Given the description of an element on the screen output the (x, y) to click on. 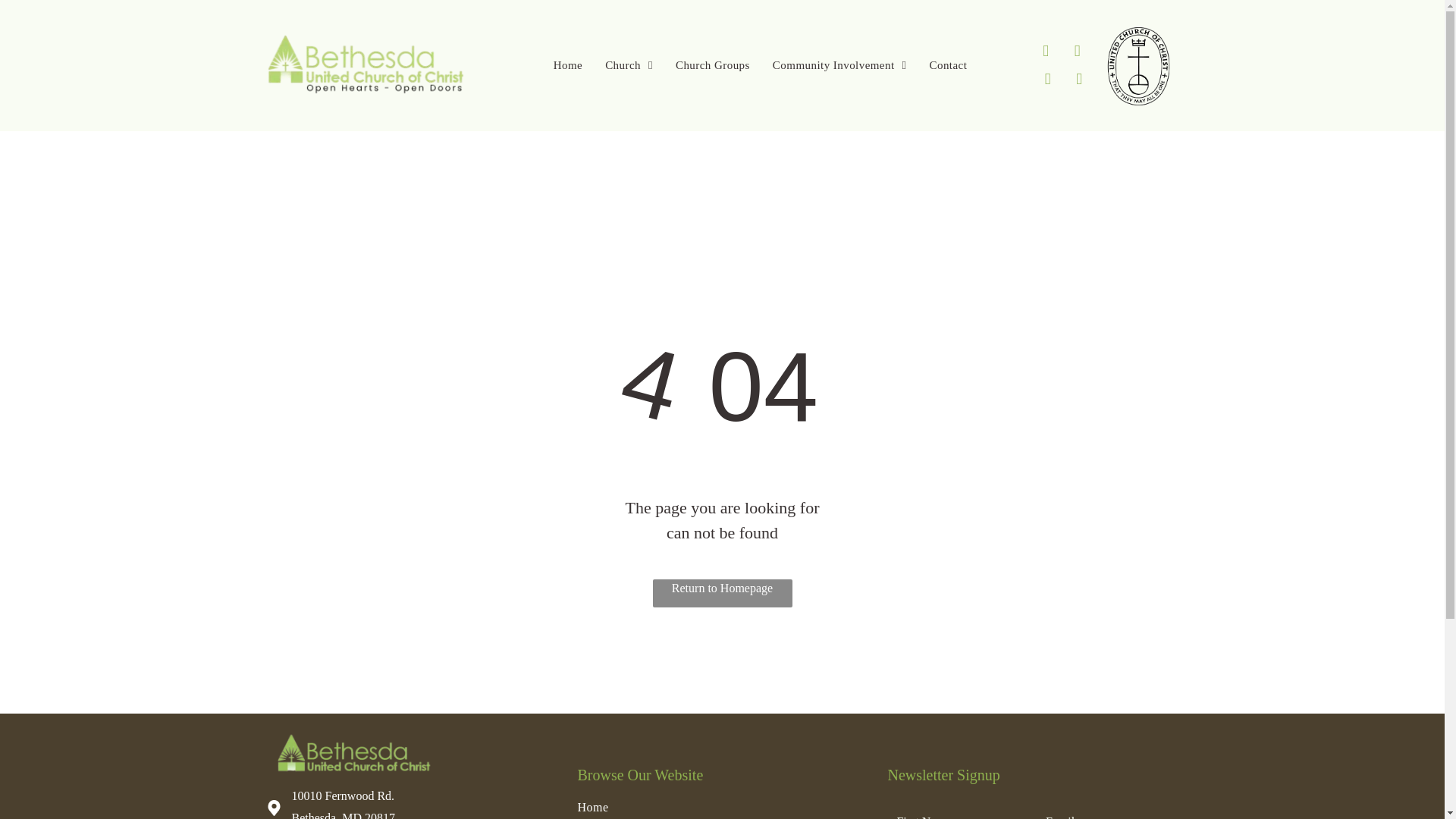
Contact (947, 65)
Church Groups (712, 65)
Community Involvement (839, 65)
Return to Homepage (722, 593)
Church (628, 65)
Home (567, 65)
